Given the description of an element on the screen output the (x, y) to click on. 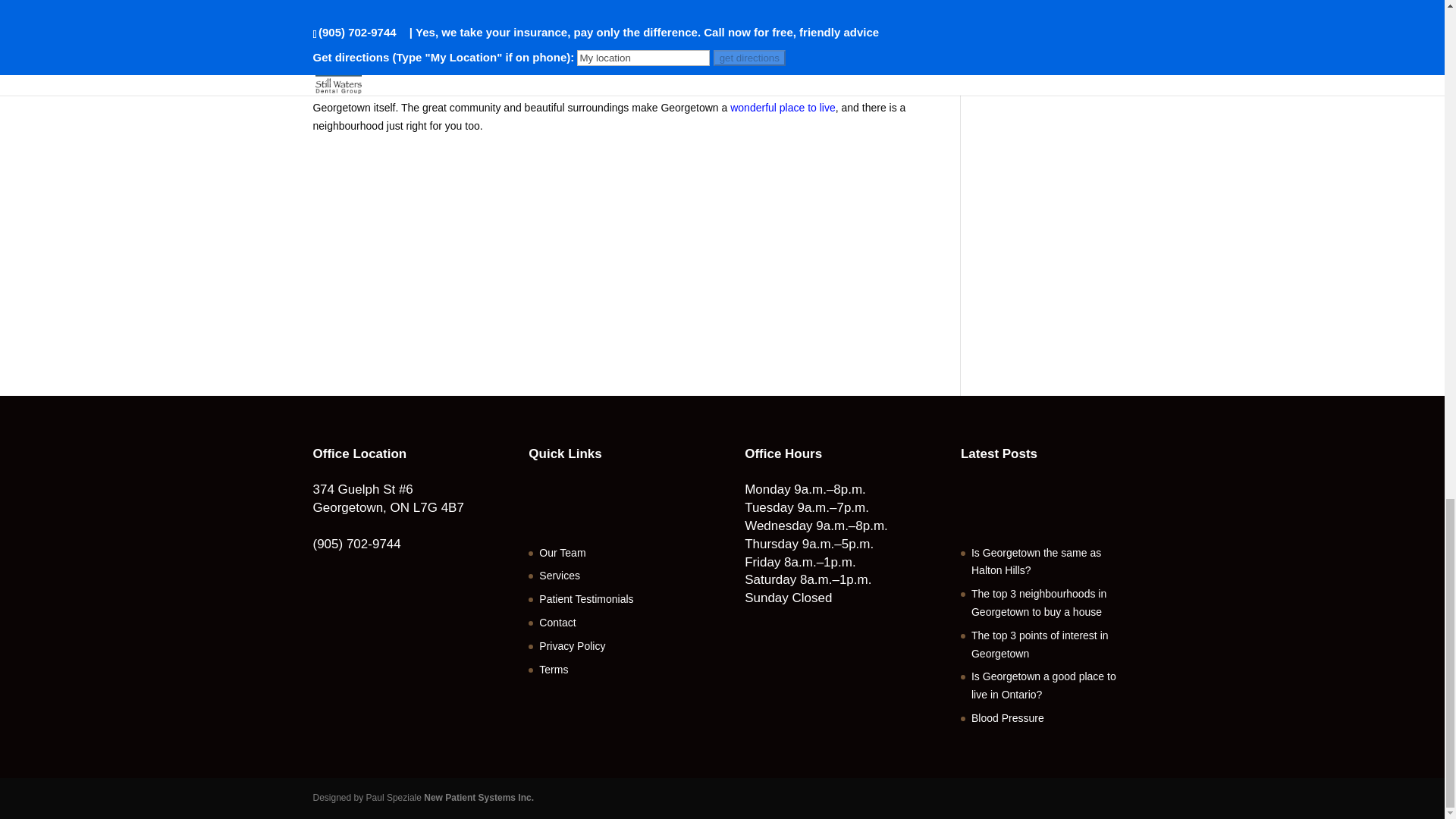
Our Team (561, 552)
New Patient Systems Inc. (478, 797)
Privacy Policy (571, 645)
Terms (552, 669)
Services (558, 575)
Contact (556, 622)
The top 3 neighbourhoods in Georgetown to buy a house (1038, 603)
The top 3 points of interest in Georgetown (1039, 644)
Is Georgetown the same as Halton Hills? (1035, 562)
Patient Testimonials (585, 598)
